Given the description of an element on the screen output the (x, y) to click on. 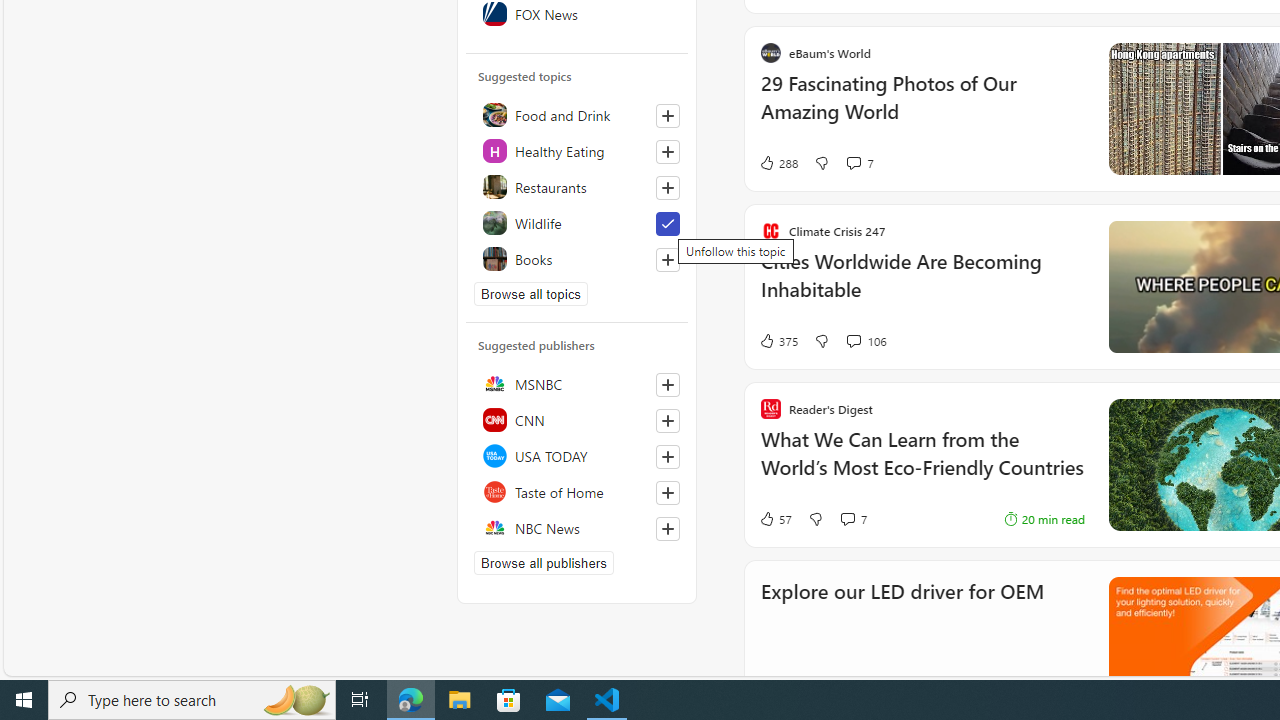
375 Like (778, 340)
Restaurants (577, 186)
Books (577, 258)
Food and Drink (577, 114)
Taste of Home (577, 492)
29 Fascinating Photos of Our Amazing World (922, 107)
288 Like (778, 162)
View comments 106 Comment (865, 340)
NBC News (577, 528)
Wildlife (577, 222)
Unfollow this topic (667, 223)
